Given the description of an element on the screen output the (x, y) to click on. 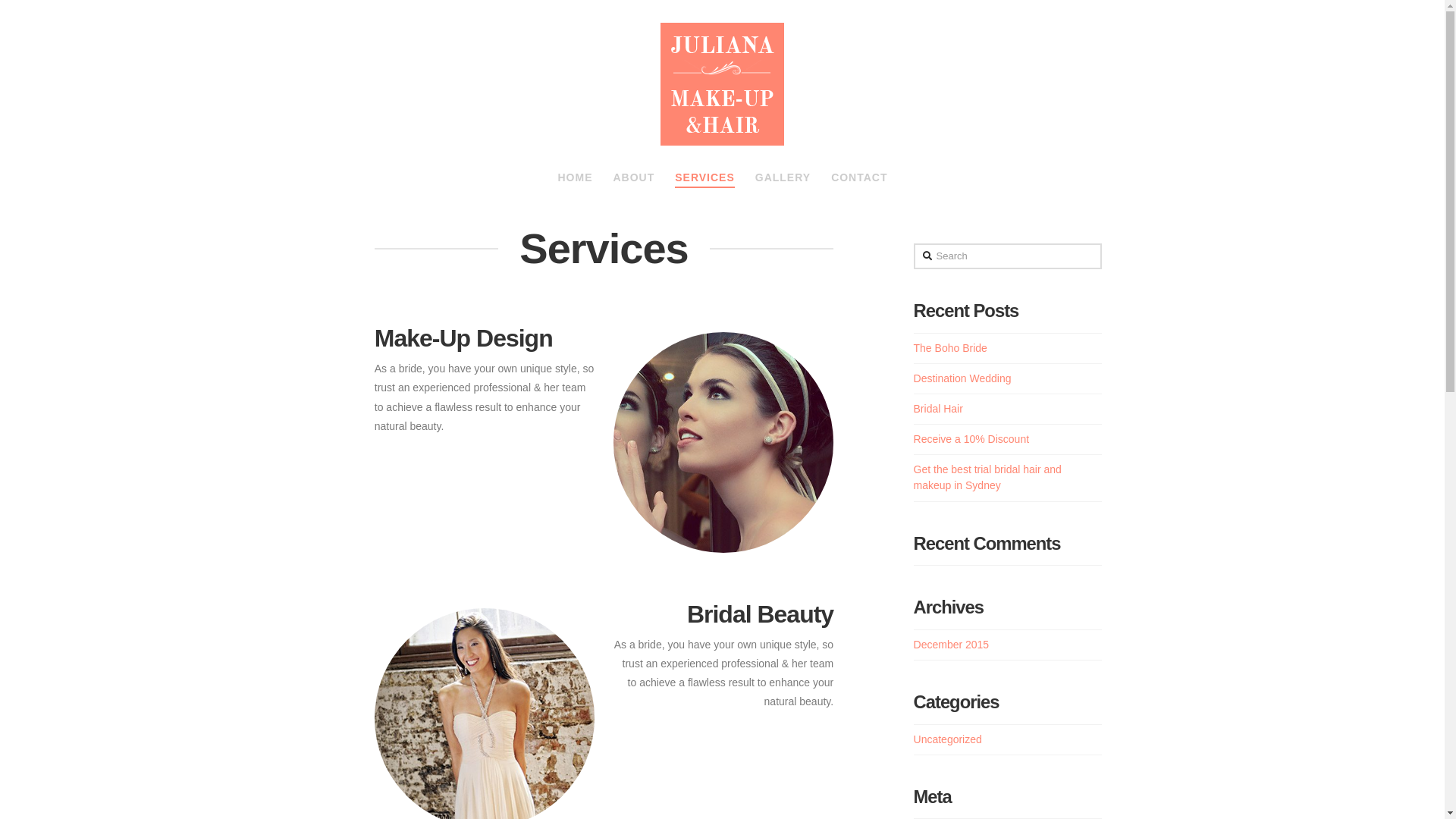
Destination Wedding Element type: text (962, 378)
ABOUT Element type: text (633, 179)
Get the best trial bridal hair and makeup in Sydney Element type: text (987, 477)
December 2015 Element type: text (951, 644)
GALLERY Element type: text (782, 179)
Receive a 10% Discount Element type: text (971, 439)
HOME Element type: text (574, 179)
CONTACT Element type: text (858, 179)
SERVICES Element type: text (704, 179)
Uncategorized Element type: text (947, 739)
The Boho Bride Element type: text (950, 348)
Bridal Hair Element type: text (938, 408)
